Given the description of an element on the screen output the (x, y) to click on. 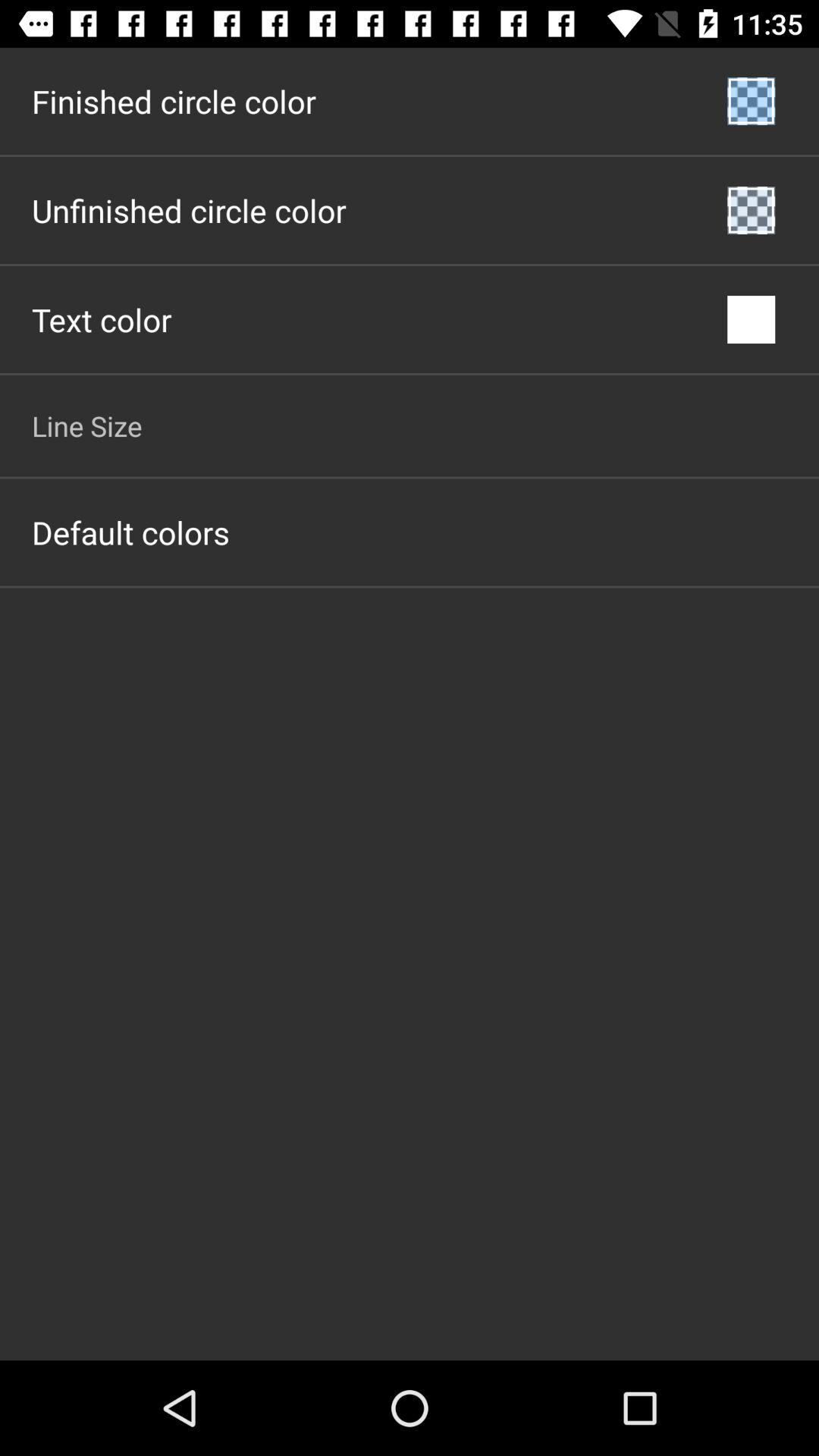
scroll to the line size icon (86, 425)
